Given the description of an element on the screen output the (x, y) to click on. 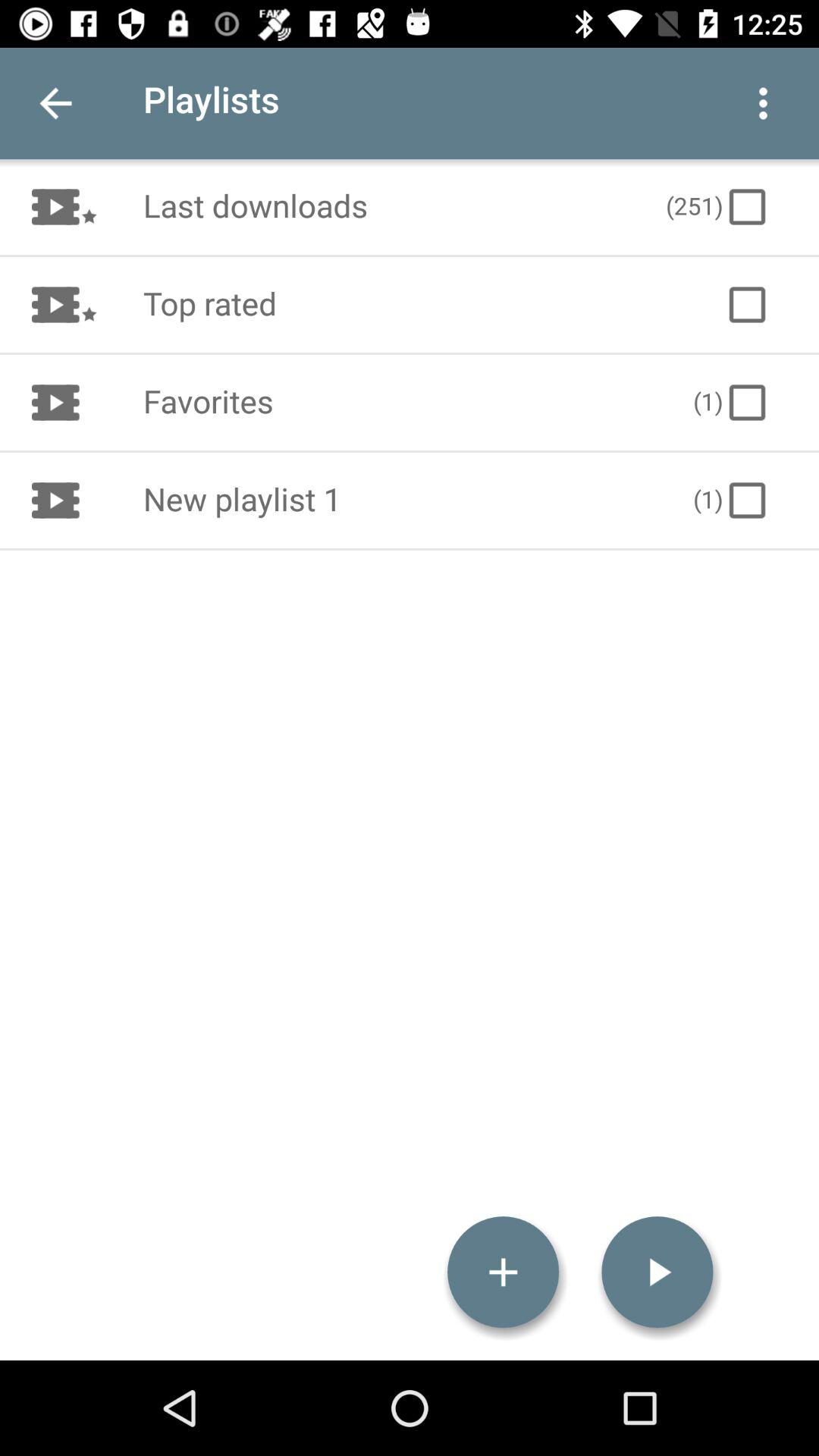
turn on the icon to the right of the top rated item (747, 304)
